Given the description of an element on the screen output the (x, y) to click on. 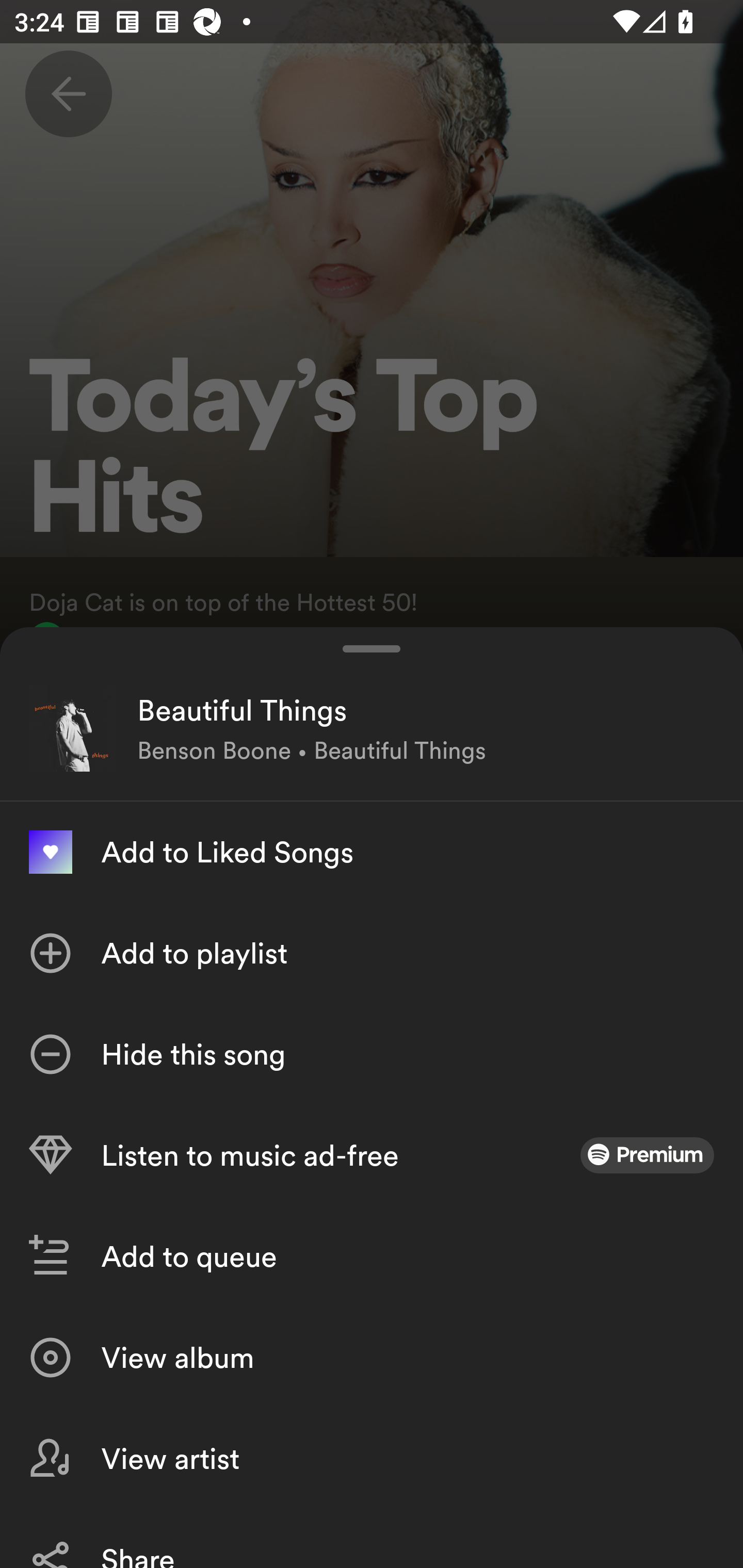
Add to Liked Songs (371, 852)
Add to playlist (371, 953)
Hide this song (371, 1054)
Listen to music ad-free (371, 1155)
Add to queue (371, 1256)
View album (371, 1357)
View artist (371, 1458)
Share (371, 1538)
